Given the description of an element on the screen output the (x, y) to click on. 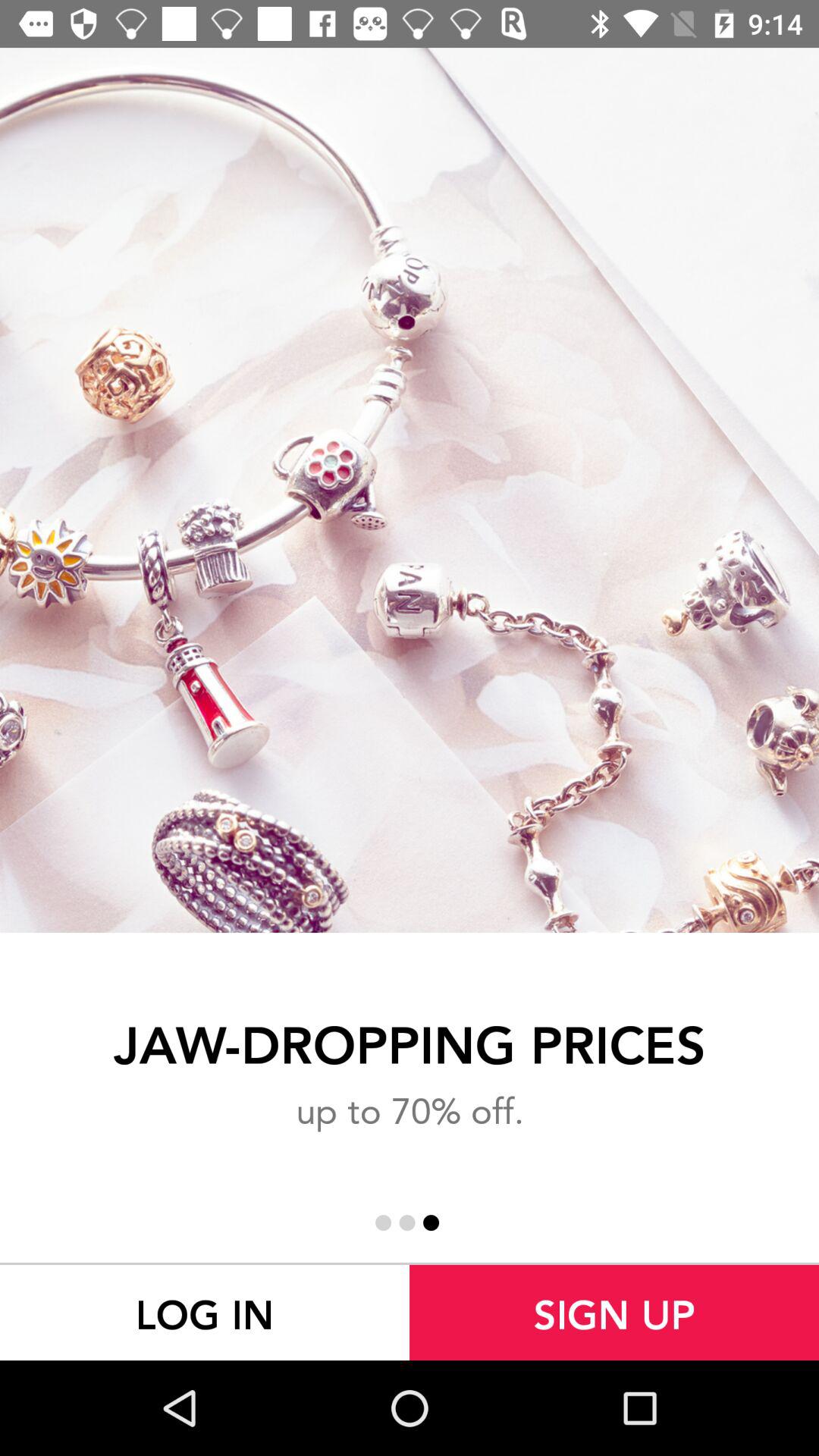
turn off sign up (614, 1312)
